Given the description of an element on the screen output the (x, y) to click on. 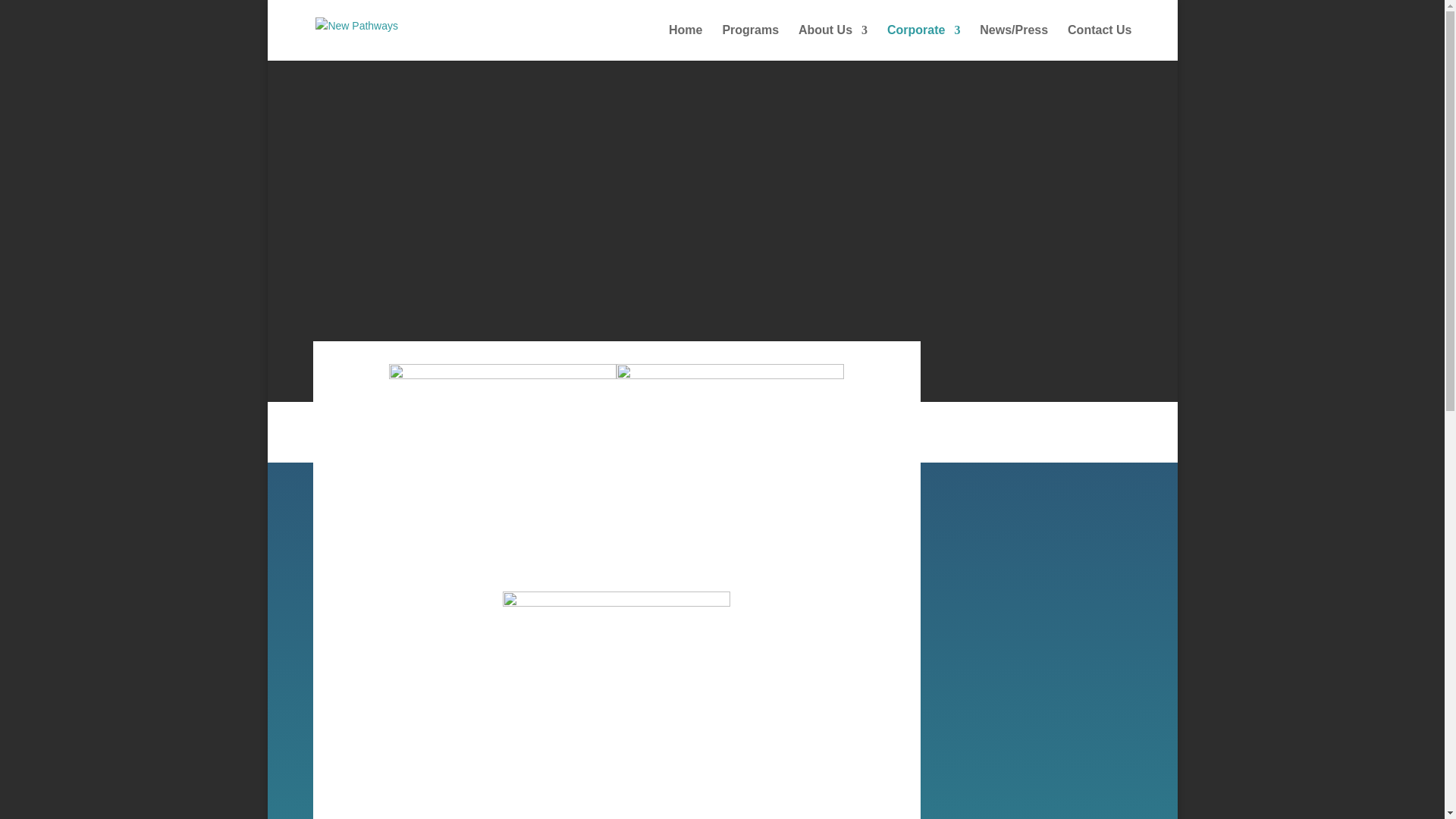
Contact Us (1099, 42)
Home (684, 42)
About Us (832, 42)
Corporate (922, 42)
Programs (750, 42)
